Given the description of an element on the screen output the (x, y) to click on. 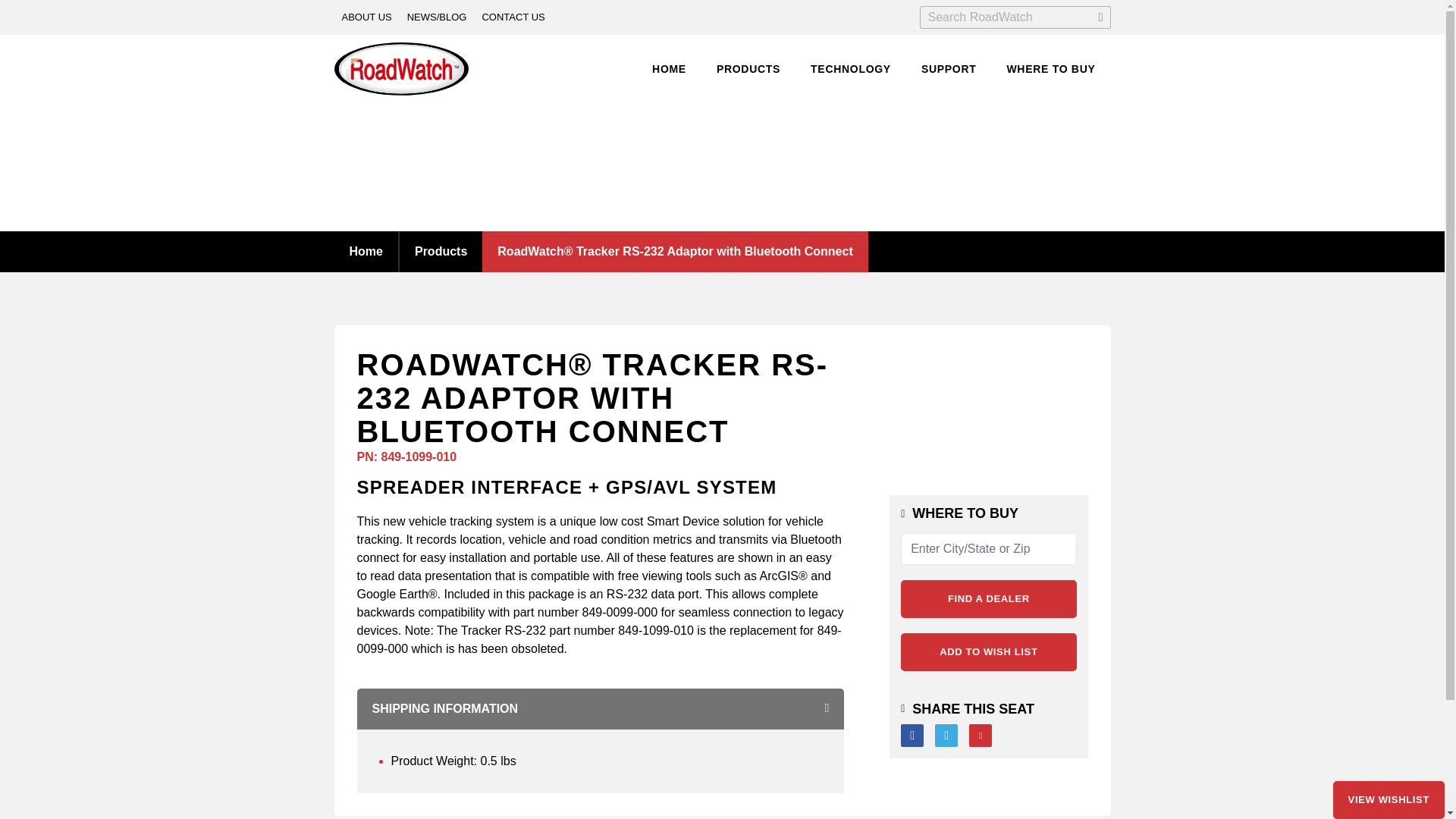
CONTACT US (512, 17)
Products (439, 250)
Home (365, 250)
SHIPPING INFORMATION (600, 708)
FIND A DEALER (988, 598)
WHERE TO BUY (1050, 69)
ABOUT US (365, 17)
TECHNOLOGY (850, 69)
PRODUCTS (748, 69)
ADD TO WISH LIST (988, 651)
